Given the description of an element on the screen output the (x, y) to click on. 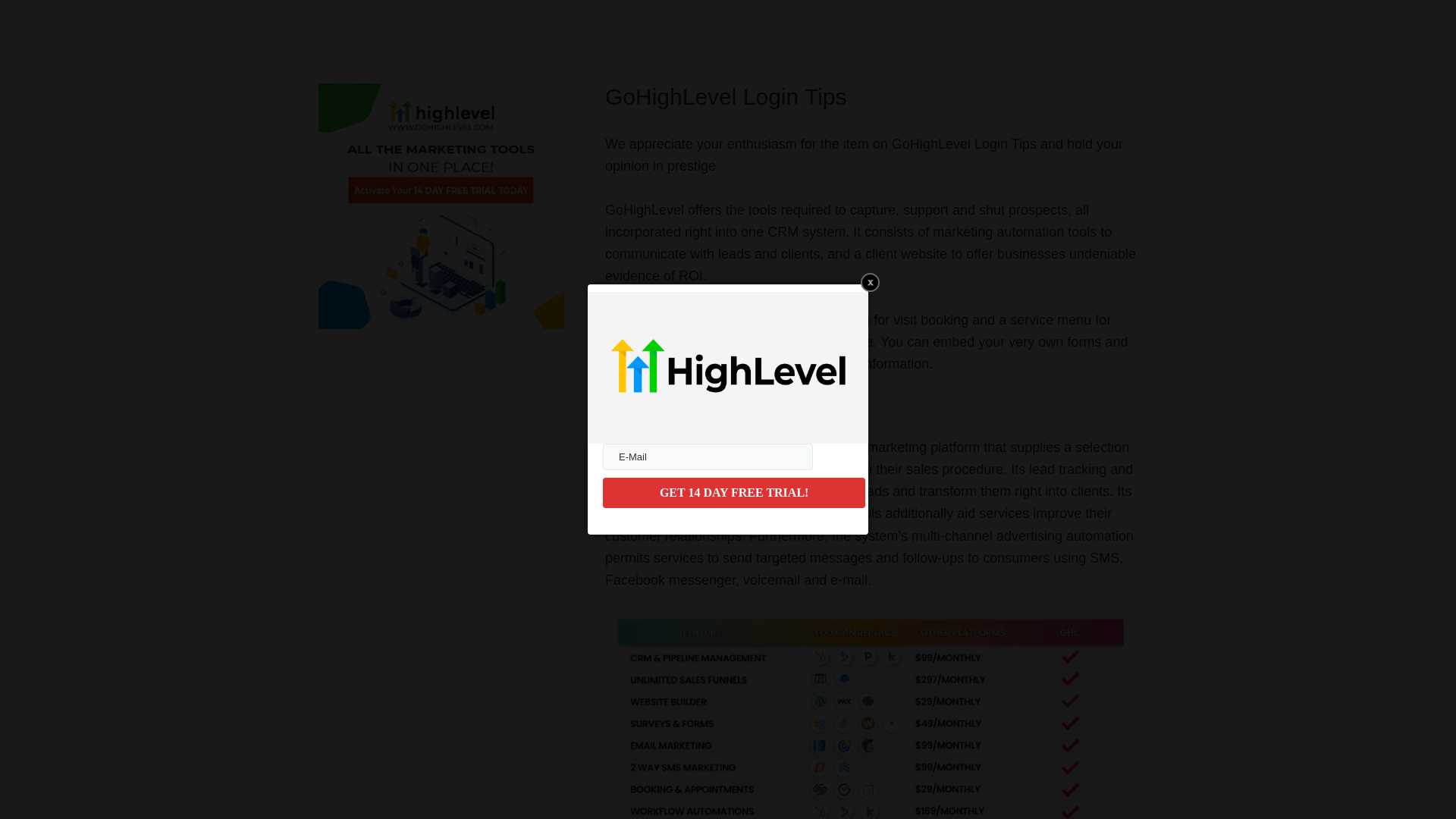
GET 14 DAY FREE TRIAL! (733, 492)
GET 14 DAY FREE TRIAL! (733, 492)
